Given the description of an element on the screen output the (x, y) to click on. 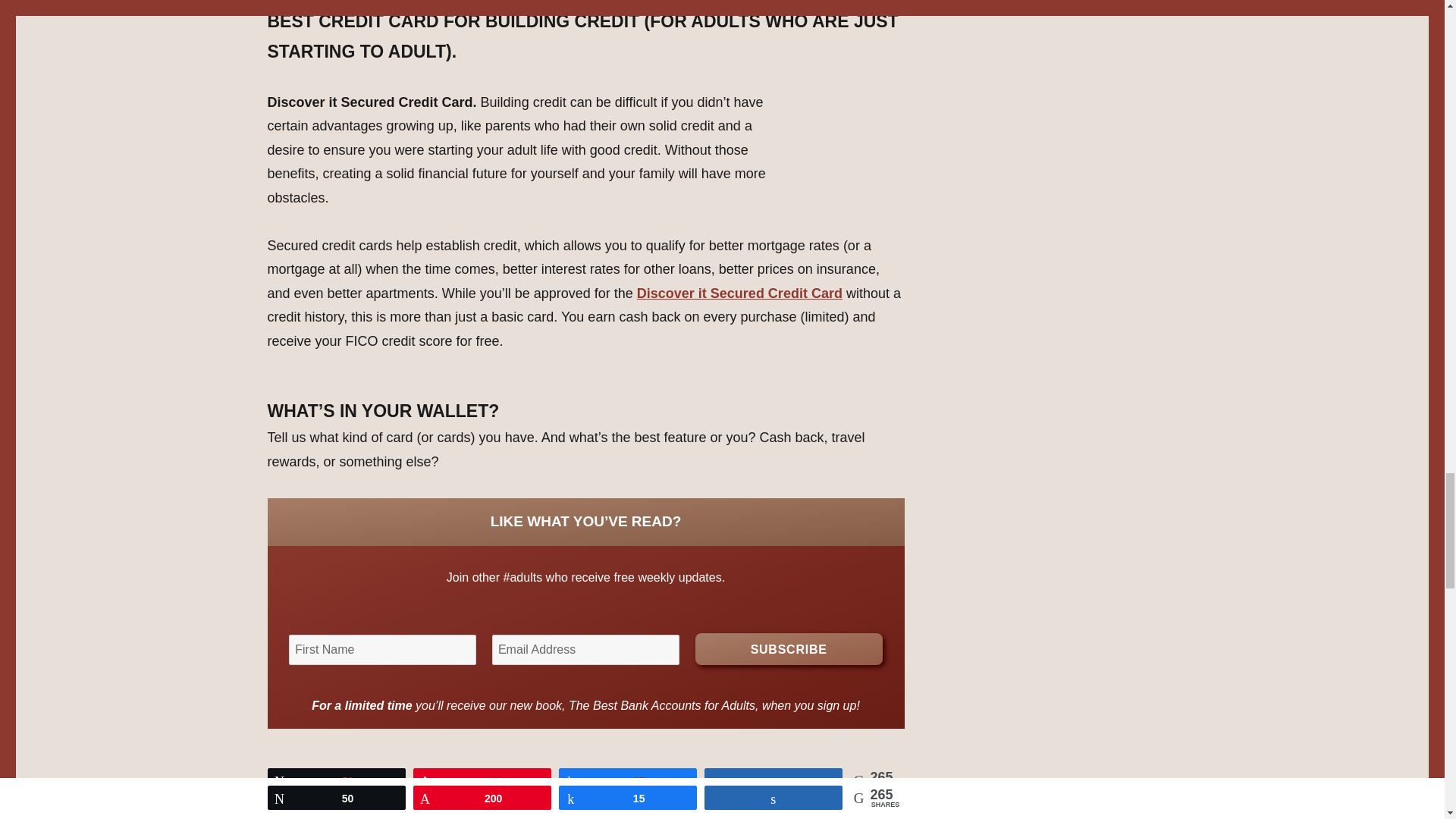
Subscribe (788, 649)
Discover it Secured Credit Card (740, 293)
Subscribe (788, 649)
200 (481, 780)
50 (335, 780)
